Given the description of an element on the screen output the (x, y) to click on. 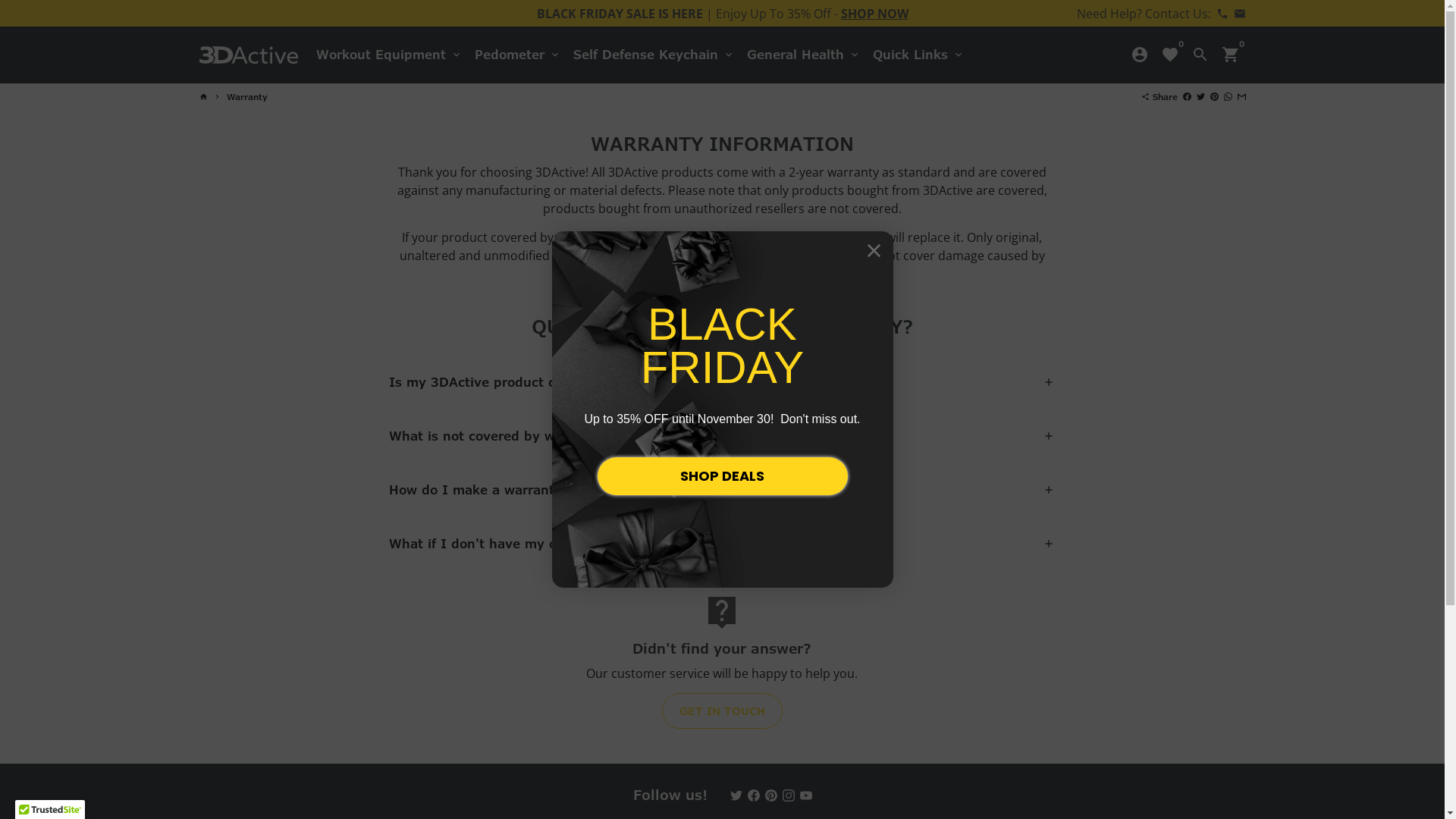
3DActive on Instagram Element type: hover (788, 795)
email Element type: text (1239, 12)
home Element type: text (202, 96)
account_circle Element type: text (1138, 54)
Quick Links keyboard_arrow_down Element type: text (917, 54)
Share on Facebook Element type: hover (1187, 96)
3DActive on Youtube Element type: hover (805, 795)
phone Element type: text (1222, 12)
Submit Element type: text (40, 17)
How do I make a warranty claim? Element type: text (721, 489)
SHOP NOW Element type: text (873, 12)
Self Defense Keychain keyboard_arrow_down Element type: text (653, 54)
search Element type: text (1199, 54)
favorite
0 Element type: text (1169, 54)
What is not covered by warranty? Element type: text (721, 436)
3DActive on Pinterest Element type: hover (770, 795)
What if I don't have my order number? Element type: text (721, 543)
Pin on Pinterest Element type: hover (1214, 96)
Skip to content Element type: text (0, 0)
Warranty Element type: text (245, 96)
Pedometer keyboard_arrow_down Element type: text (517, 54)
GET IN TOUCH Element type: text (722, 710)
3DActive on Twitter Element type: hover (735, 795)
3DActive on Facebook Element type: hover (753, 795)
Share on Whatsapp Element type: hover (1227, 96)
SHOP DEALS Element type: text (722, 476)
Share by Email Element type: hover (1241, 96)
Workout Equipment keyboard_arrow_down Element type: text (388, 54)
General Health keyboard_arrow_down Element type: text (803, 54)
Tweet on Twitter Element type: hover (1200, 96)
Is my 3DActive product covered by warranty? Element type: text (721, 382)
shopping_cart
0 Element type: text (1229, 54)
